Given the description of an element on the screen output the (x, y) to click on. 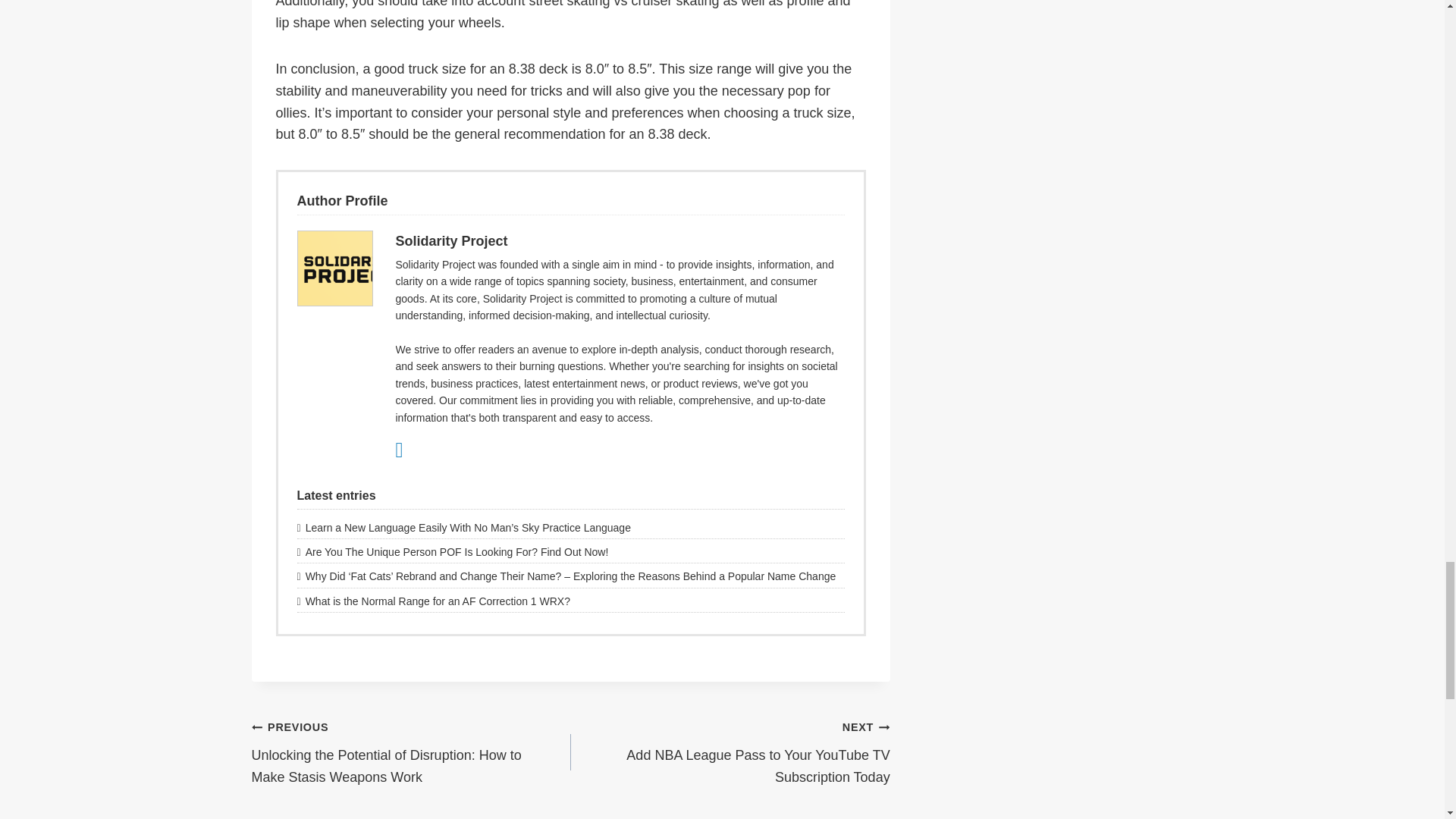
Are You The Unique Person POF Is Looking For? Find Out Now! (570, 551)
What is the Normal Range for an AF Correction 1 WRX? (570, 600)
